Given the description of an element on the screen output the (x, y) to click on. 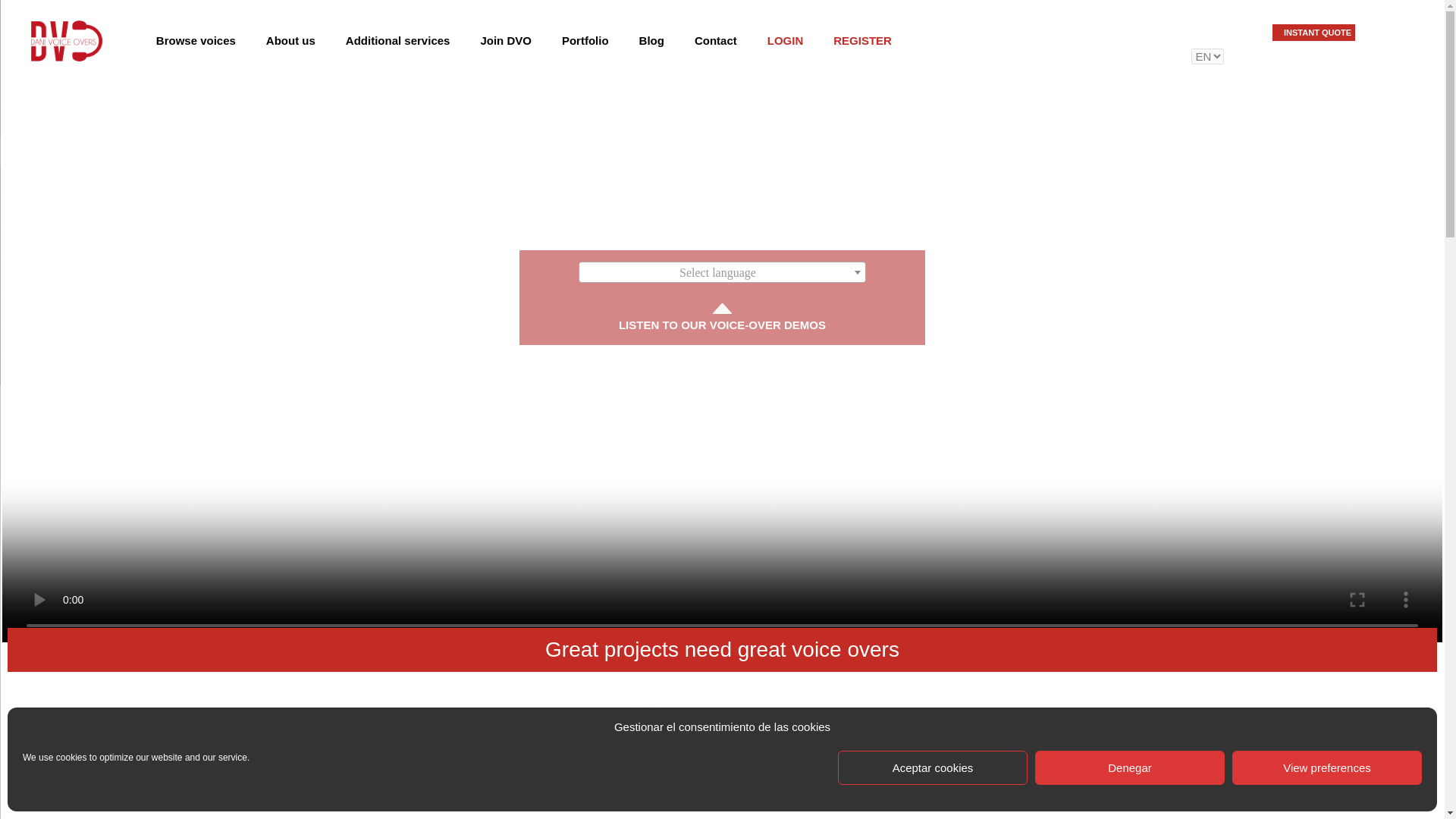
Contact (715, 40)
Blog (651, 40)
Denegar (1129, 767)
Portfolio (585, 40)
About us (290, 40)
Aceptar cookies (932, 767)
Join DVO (505, 40)
REGISTER (862, 40)
INSTANT QUOTE (1317, 32)
View preferences (1326, 767)
Additional services (397, 40)
Browse voices (195, 40)
Budget (1317, 32)
LOGIN (785, 40)
